Given the description of an element on the screen output the (x, y) to click on. 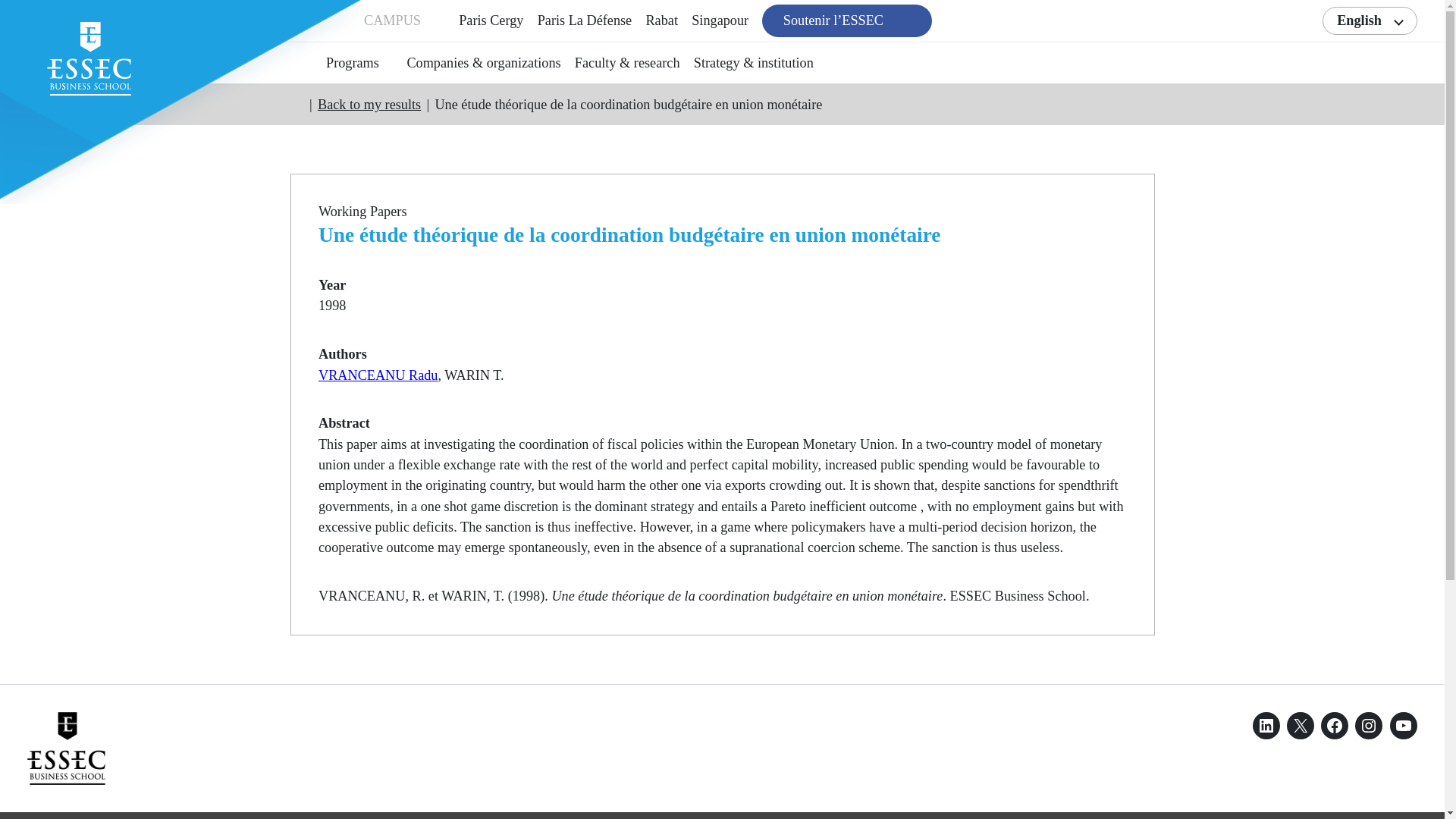
Rabat (661, 20)
Home (295, 104)
Programs (352, 63)
Paris Cergy (490, 20)
Singapour (719, 20)
Back to my results (368, 104)
English (1369, 20)
